Given the description of an element on the screen output the (x, y) to click on. 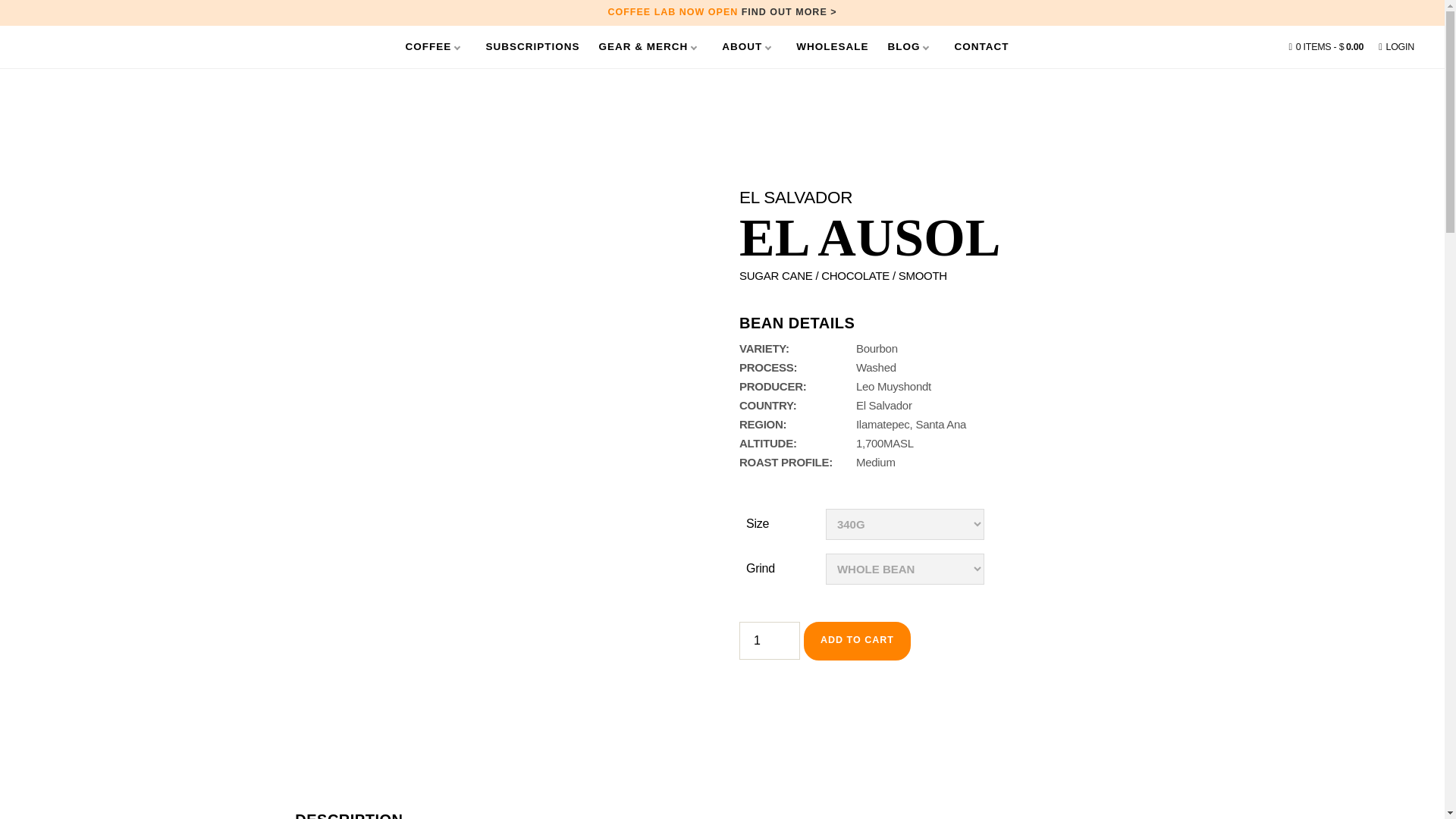
CONTACT (981, 46)
Wholesale (831, 46)
COFFEE (436, 46)
1 (769, 640)
WHOLESALE (831, 46)
SUBSCRIPTIONS (531, 46)
LOGIN (1395, 46)
About (749, 46)
BLOG (910, 46)
ABOUT (749, 46)
